Given the description of an element on the screen output the (x, y) to click on. 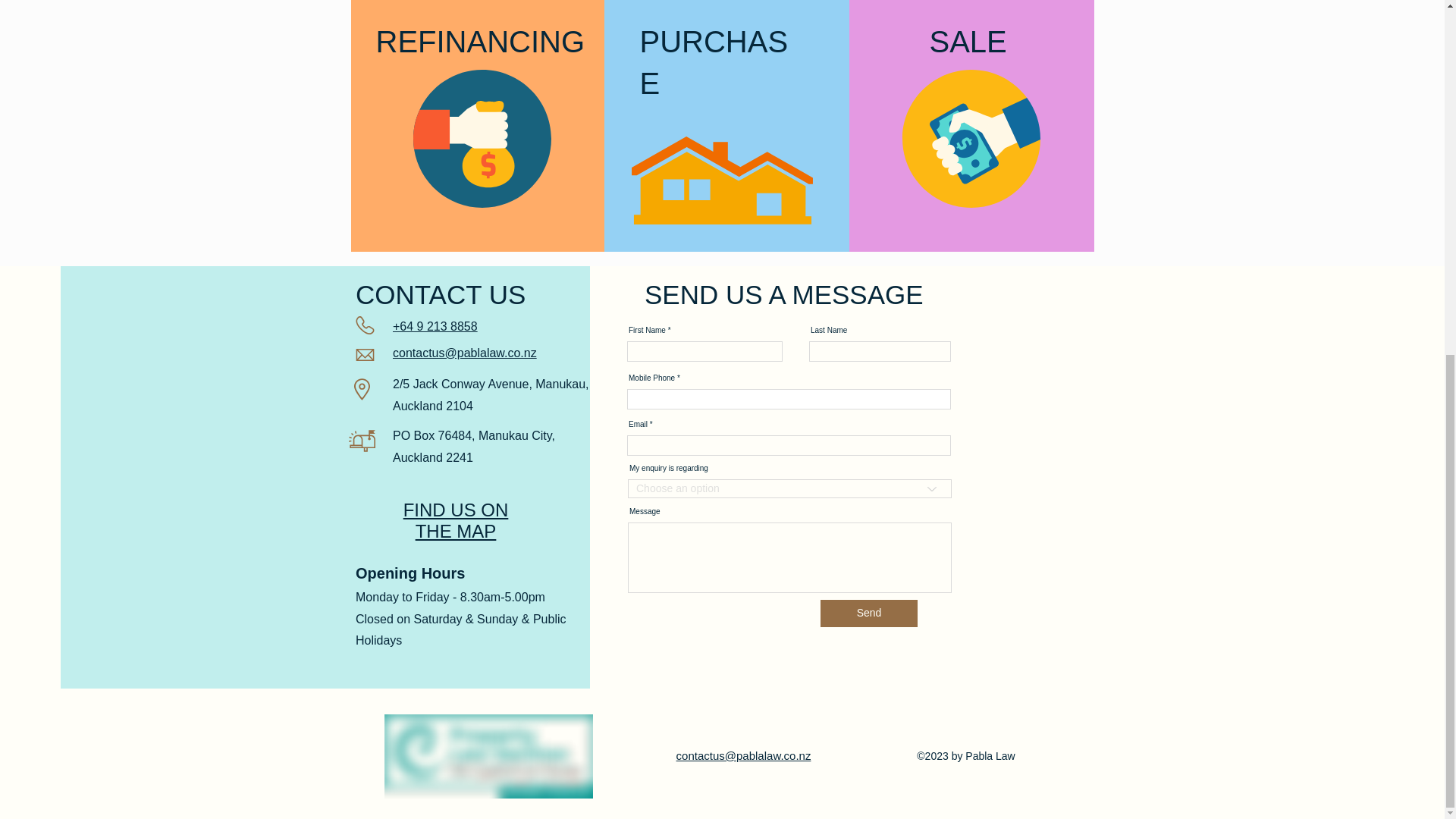
REFINANCING (480, 41)
SALE (968, 41)
PURCHASE (714, 62)
Send (869, 613)
